Given the description of an element on the screen output the (x, y) to click on. 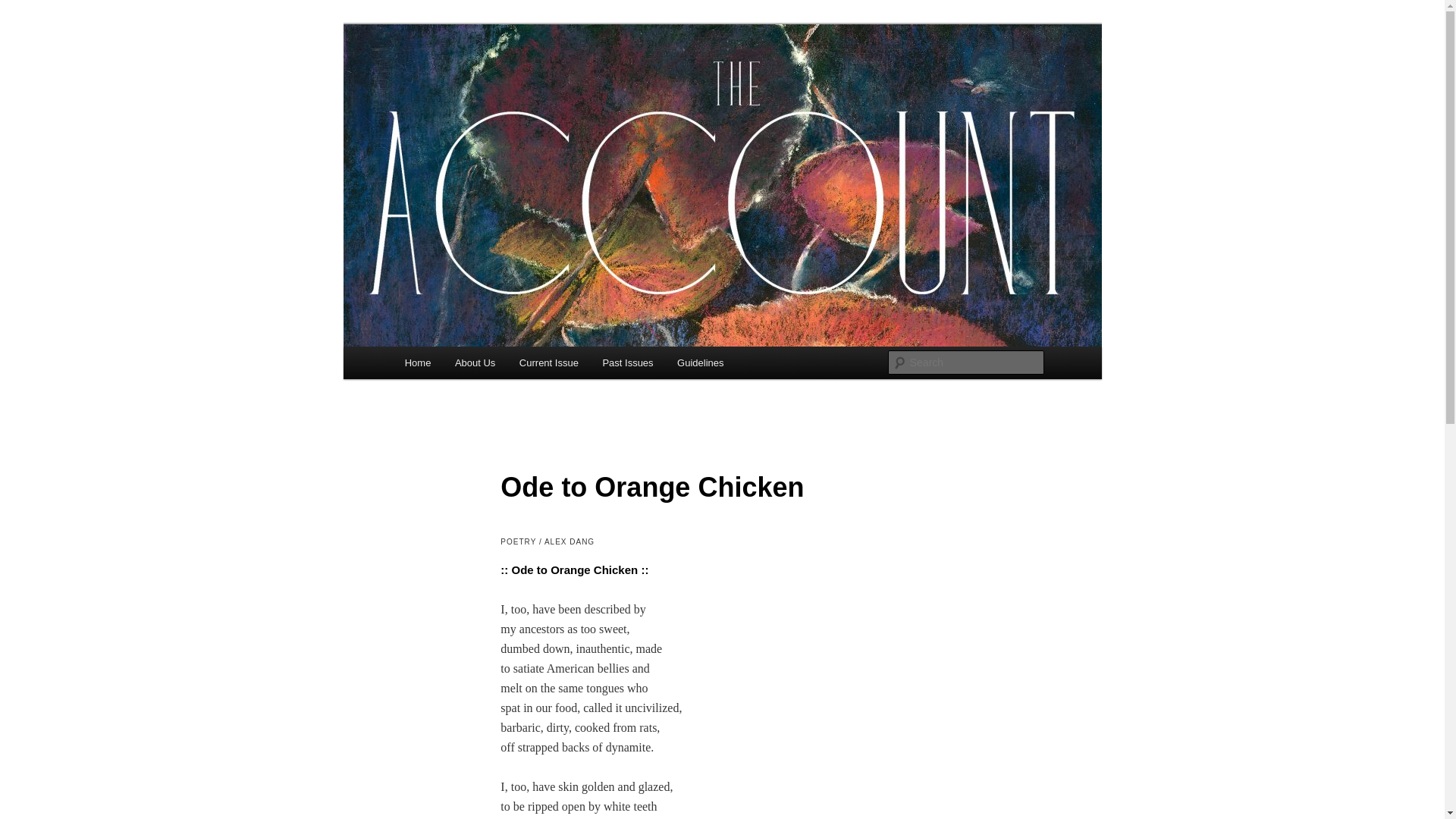
Skip to primary content (472, 365)
Search (24, 8)
Home (417, 362)
Current Issue (548, 362)
Skip to primary content (472, 365)
Skip to secondary content (479, 365)
The Account: A Journal of Poetry, Prose, and Thought (643, 92)
Guidelines (700, 362)
The Account: A Journal of Poetry, Prose, and Thought (643, 92)
Skip to secondary content (479, 365)
About Us (474, 362)
Past Issues (628, 362)
